Given the description of an element on the screen output the (x, y) to click on. 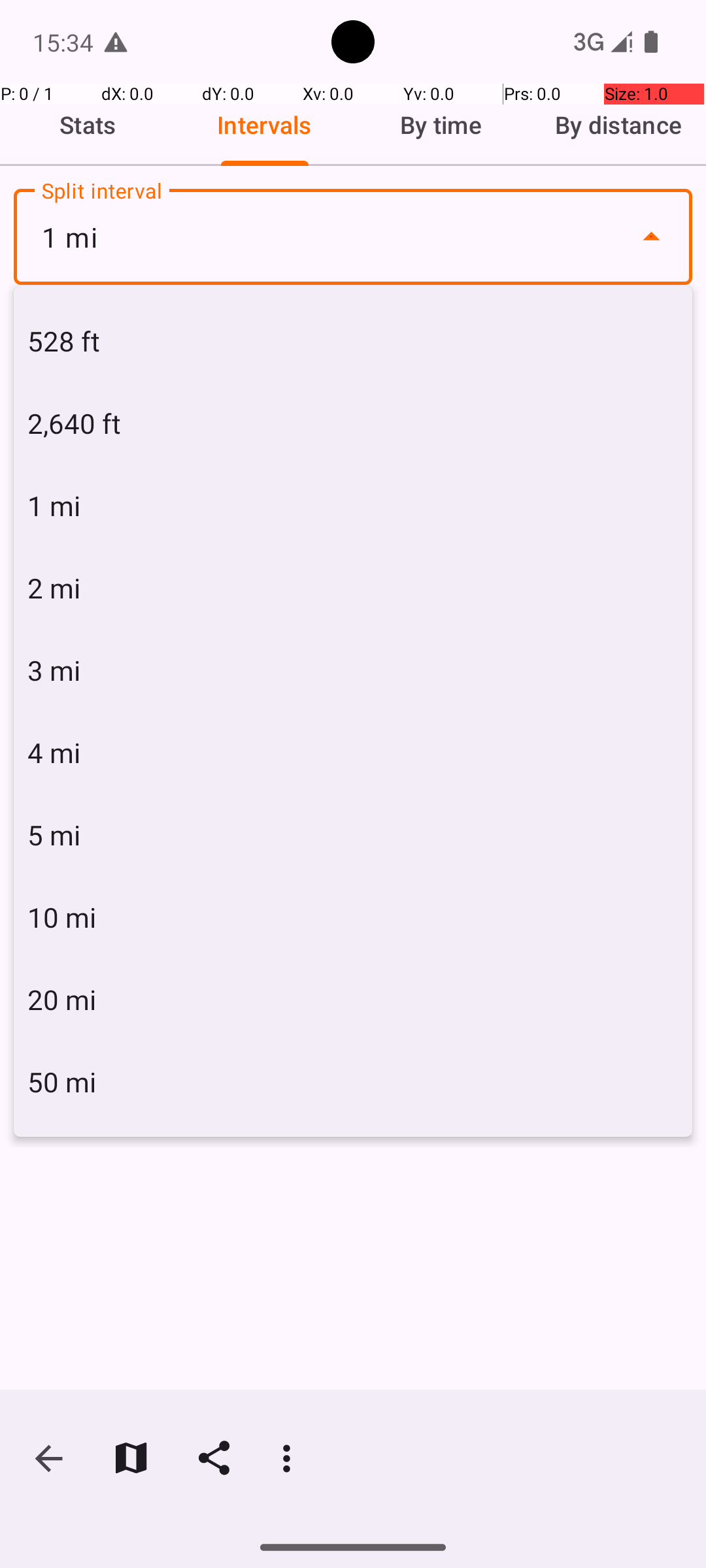
Stats Element type: android.widget.LinearLayout (88, 124)
Intervals Element type: android.widget.LinearLayout (264, 124)
By time Element type: android.widget.LinearLayout (441, 124)
By distance Element type: android.widget.LinearLayout (617, 124)
Show on map Element type: android.widget.Button (130, 1458)
1 mi Element type: android.widget.Spinner (352, 236)
DISTANCE Element type: android.widget.TextView (126, 328)
SPEED Element type: android.widget.TextView (352, 328)
ELEVATION Element type: android.widget.TextView (579, 328)
0.00 ft Element type: android.widget.TextView (135, 408)
0.0 mph Element type: android.widget.TextView (352, 408)
- ft Element type: android.widget.TextView (569, 388)
528 ft Element type: android.widget.CheckedTextView (352, 340)
2,640 ft Element type: android.widget.CheckedTextView (352, 423)
2 mi Element type: android.widget.CheckedTextView (352, 587)
3 mi Element type: android.widget.CheckedTextView (352, 670)
4 mi Element type: android.widget.CheckedTextView (352, 752)
5 mi Element type: android.widget.CheckedTextView (352, 834)
10 mi Element type: android.widget.CheckedTextView (352, 917)
20 mi Element type: android.widget.CheckedTextView (352, 999)
50 mi Element type: android.widget.CheckedTextView (352, 1081)
